Given the description of an element on the screen output the (x, y) to click on. 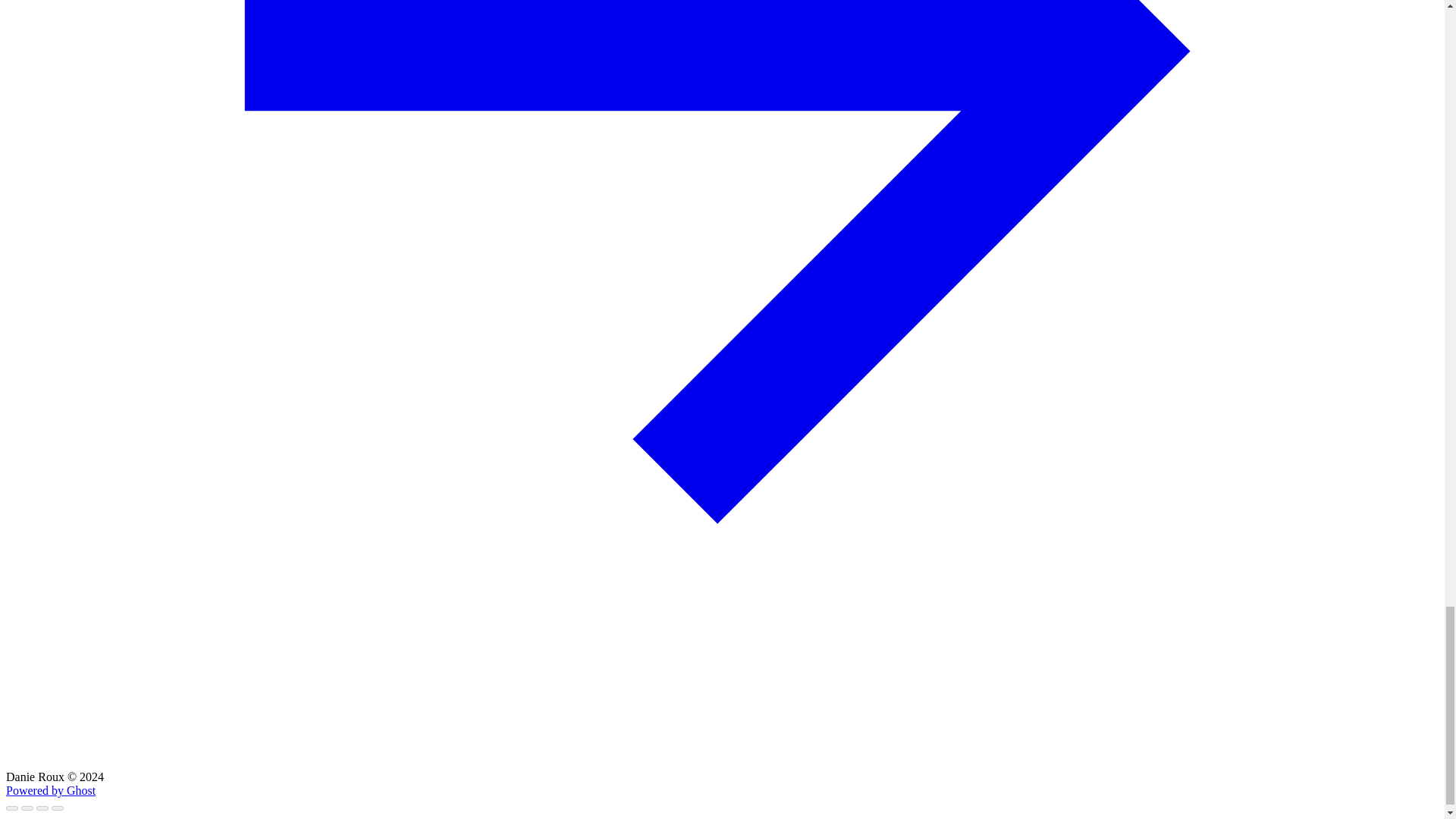
Share (27, 807)
Powered by Ghost (50, 789)
Toggle fullscreen (42, 807)
